Given the description of an element on the screen output the (x, y) to click on. 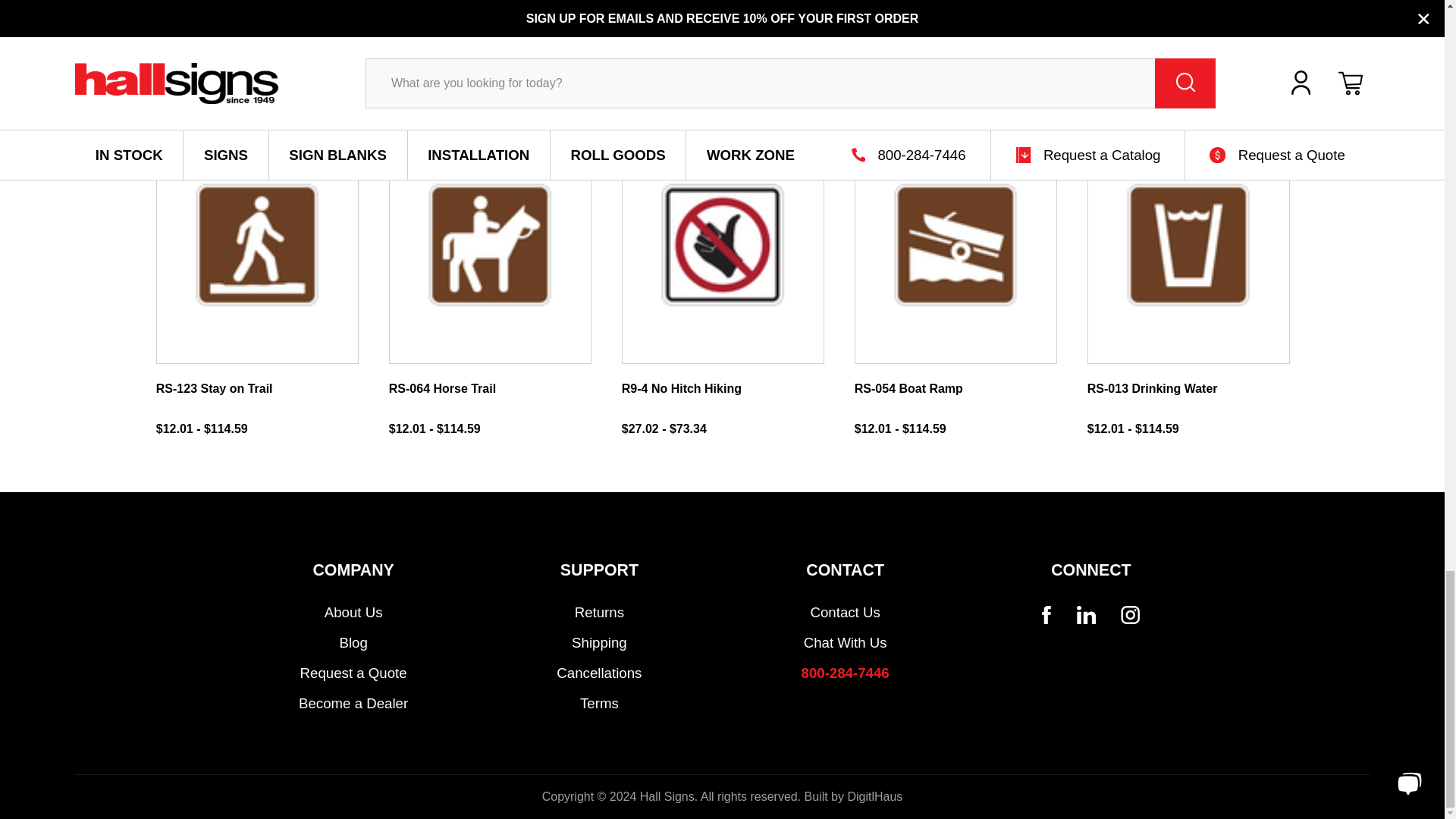
RS-064 Horse Trail (489, 244)
RS-123 Stay on Trail (256, 244)
RS-013 Drinking Water (1188, 244)
R9-4 No Hitch Hiking (722, 244)
RS-054 Boat Ramp (955, 244)
